Given the description of an element on the screen output the (x, y) to click on. 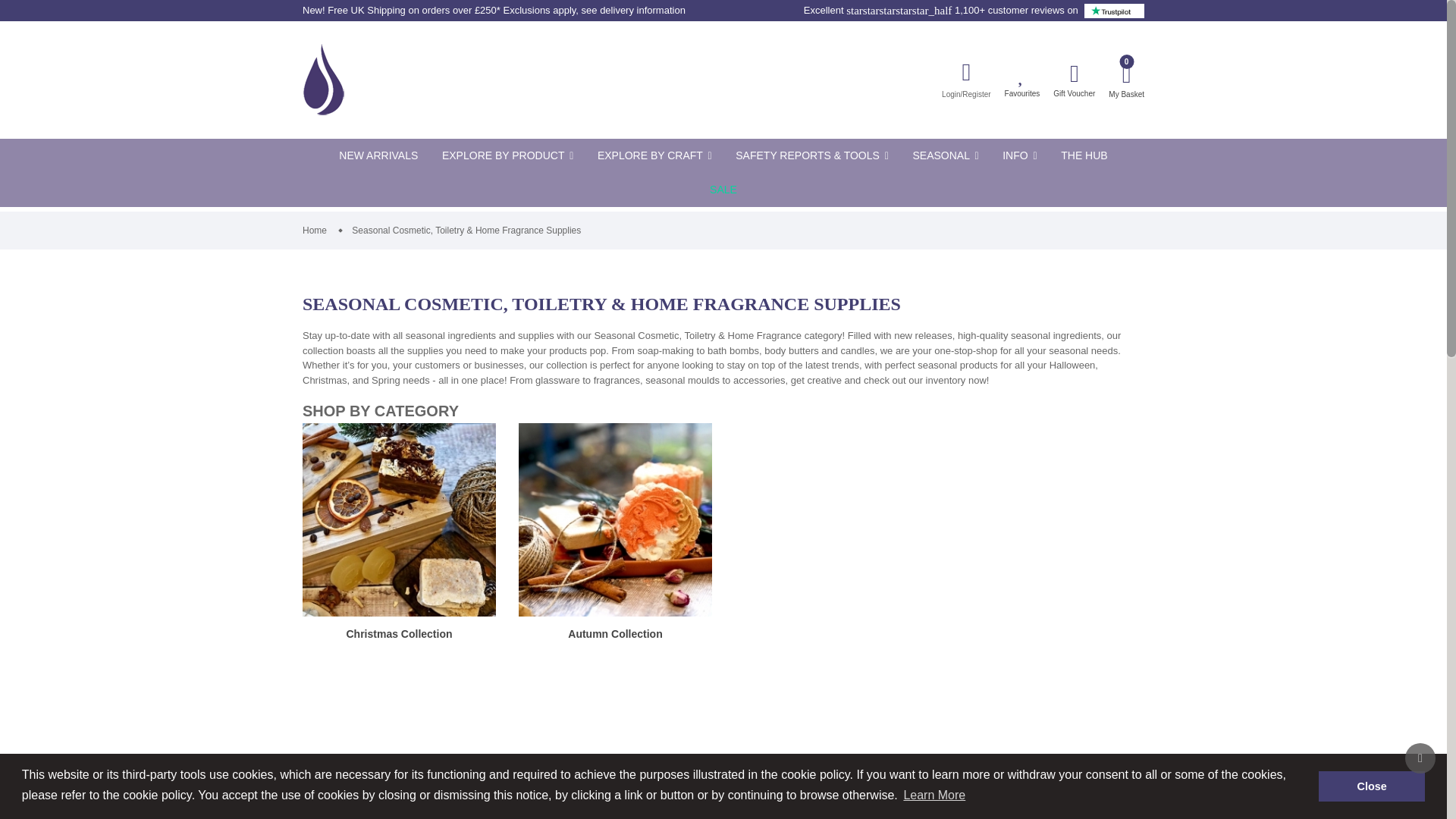
NEW ARRIVALS (378, 155)
EXPLORE BY PRODUCT (506, 155)
delivery information (642, 10)
Close (1372, 786)
Gift Voucher (1073, 78)
Learn More (934, 794)
